Given the description of an element on the screen output the (x, y) to click on. 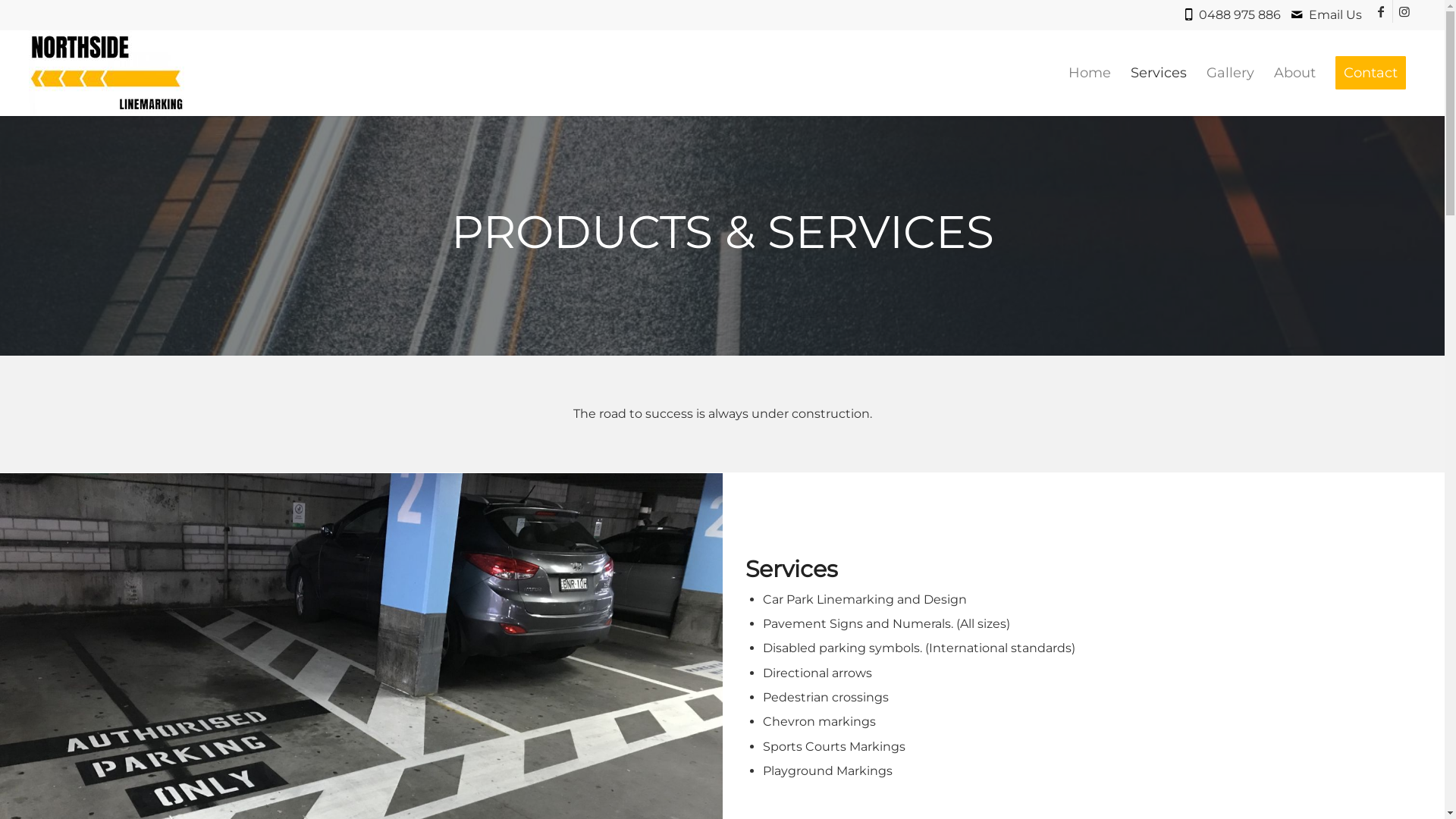
nslm-logo-new2 Element type: hover (106, 73)
About Element type: text (1294, 73)
Contact Element type: text (1370, 73)
Email Us Element type: text (1334, 14)
Instagram Element type: hover (1404, 11)
Gallery Element type: text (1230, 73)
Services Element type: text (1158, 73)
0488 975 886 Element type: text (1243, 14)
Home Element type: text (1089, 73)
Facebook Element type: hover (1381, 11)
